Given the description of an element on the screen output the (x, y) to click on. 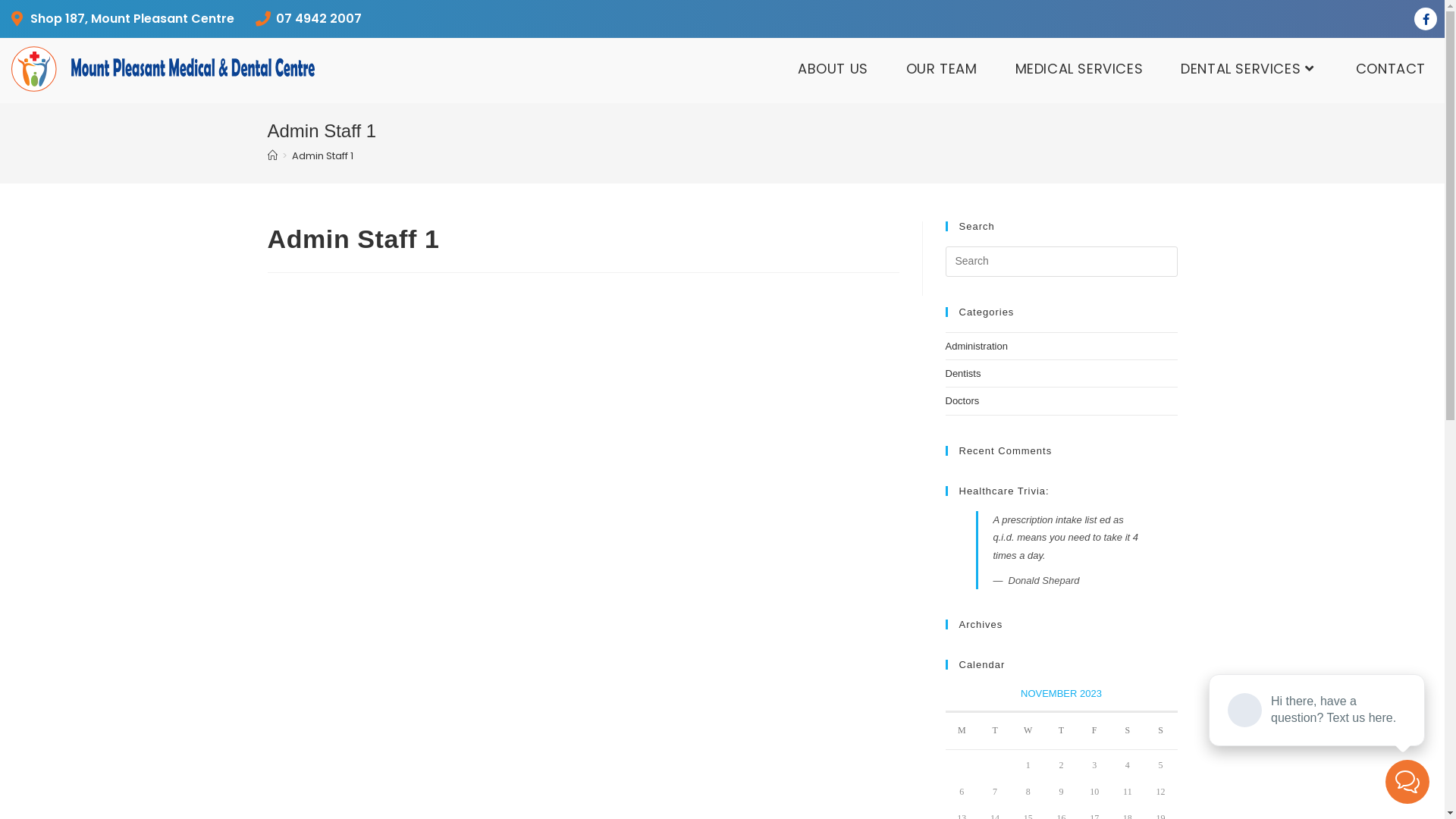
ABOUT US Element type: text (832, 68)
Administration Element type: text (975, 345)
Doctors Element type: text (961, 400)
OUR TEAM Element type: text (941, 68)
MEDICAL SERVICES Element type: text (1079, 68)
Admin Staff 1 Element type: text (321, 155)
DENTAL SERVICES Element type: text (1248, 68)
CONTACT Element type: text (1390, 68)
Dentists Element type: text (962, 373)
